Given the description of an element on the screen output the (x, y) to click on. 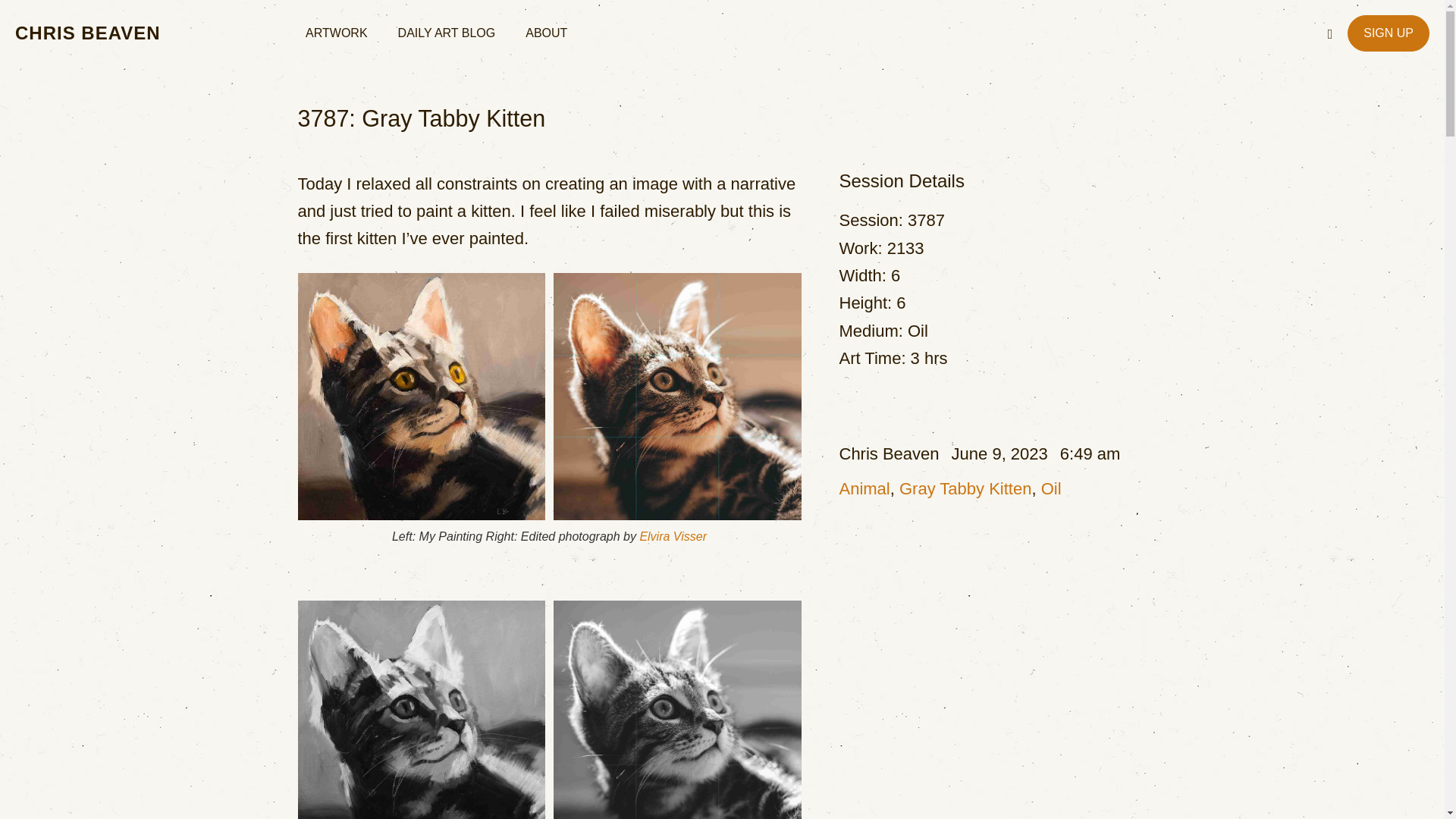
Oil (1051, 488)
Elvira Visser (672, 535)
ABOUT (546, 33)
Chris Beaven (888, 453)
CHRIS BEAVEN (87, 32)
DAILY ART BLOG (446, 33)
SIGN UP (1388, 33)
June 9, 2023 (1000, 453)
Animal (863, 488)
ARTWORK (335, 33)
Gray Tabby Kitten (964, 488)
